Given the description of an element on the screen output the (x, y) to click on. 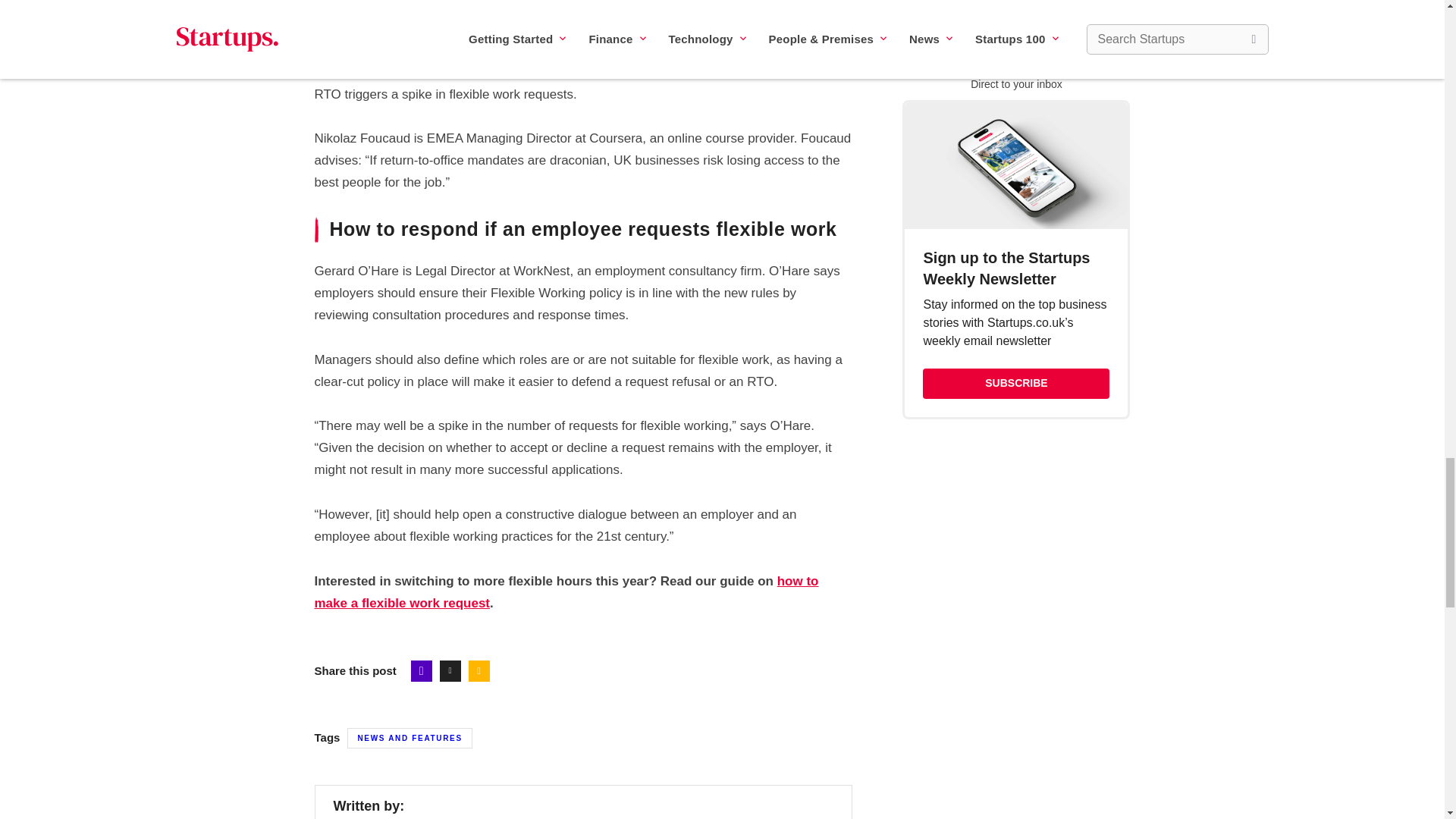
Twitter (450, 670)
Facebook (421, 670)
Linkedin (478, 670)
